Given the description of an element on the screen output the (x, y) to click on. 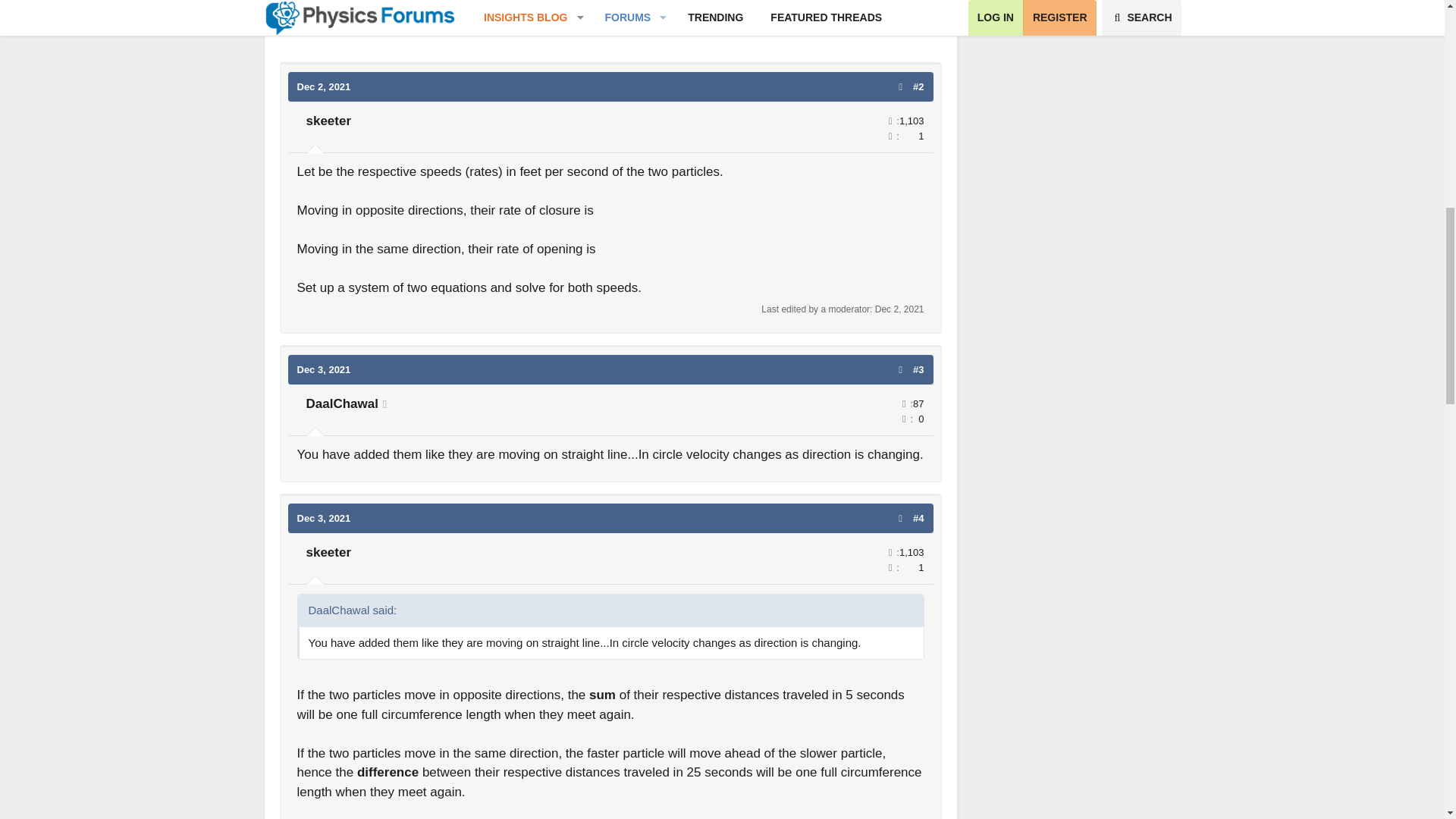
Dec 3, 2021 at 12:22 AM (323, 369)
Dec 2, 2021 at 6:51 PM (899, 308)
Dec 2, 2021 at 9:46 AM (323, 86)
Dec 3, 2021 at 8:15 AM (323, 518)
